Given the description of an element on the screen output the (x, y) to click on. 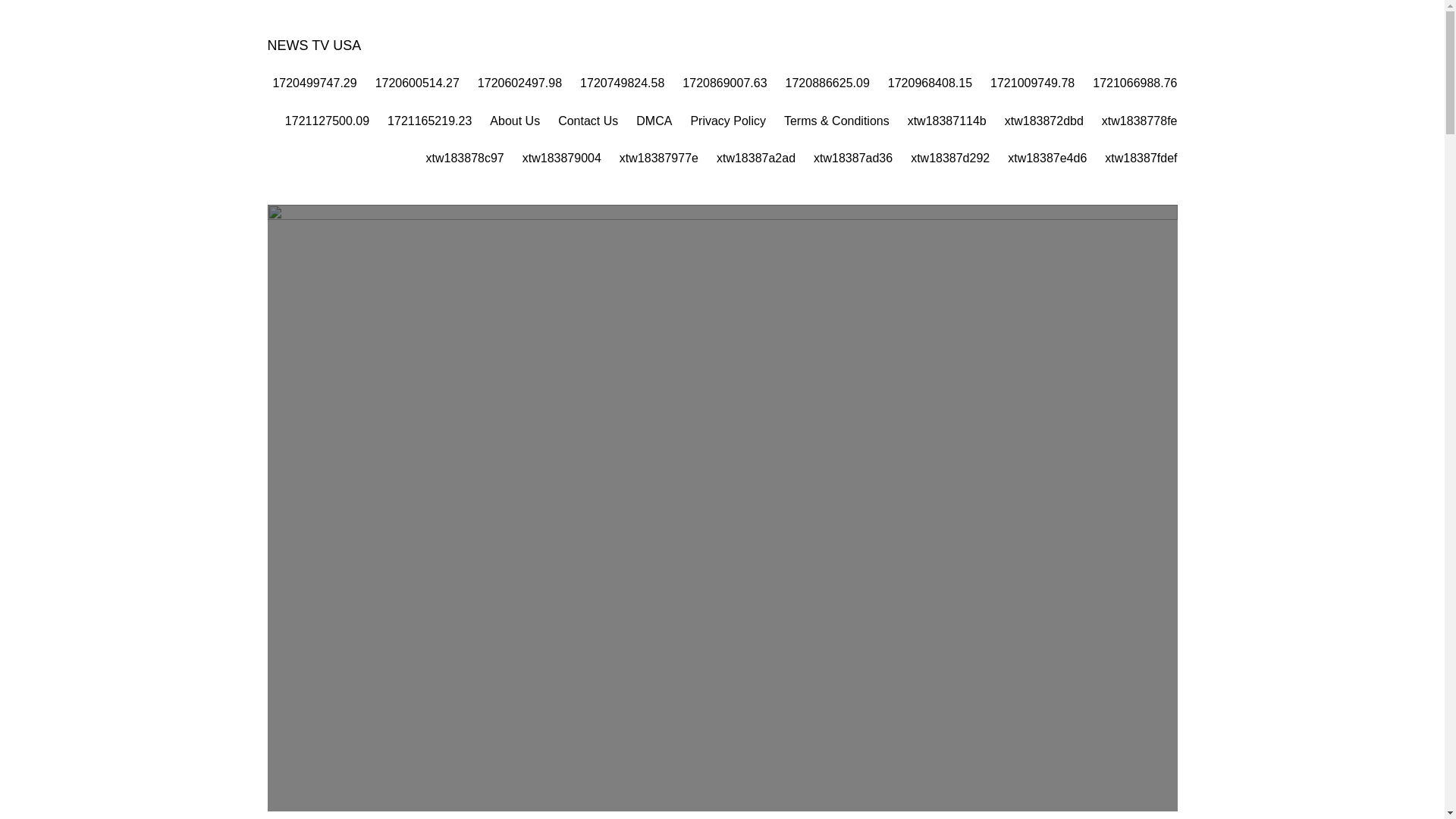
DMCA (653, 121)
xtw183878c97 (464, 158)
About Us (514, 121)
xtw18387d292 (950, 158)
NEWS TV USA (313, 45)
Privacy Policy (727, 121)
xtw18387114b (947, 121)
xtw18387ad36 (852, 158)
xtw18387a2ad (755, 158)
1721066988.76 (1134, 83)
1721009749.78 (1032, 83)
1721127500.09 (327, 121)
1720602497.98 (519, 83)
xtw183879004 (561, 158)
1720749824.58 (621, 83)
